Given the description of an element on the screen output the (x, y) to click on. 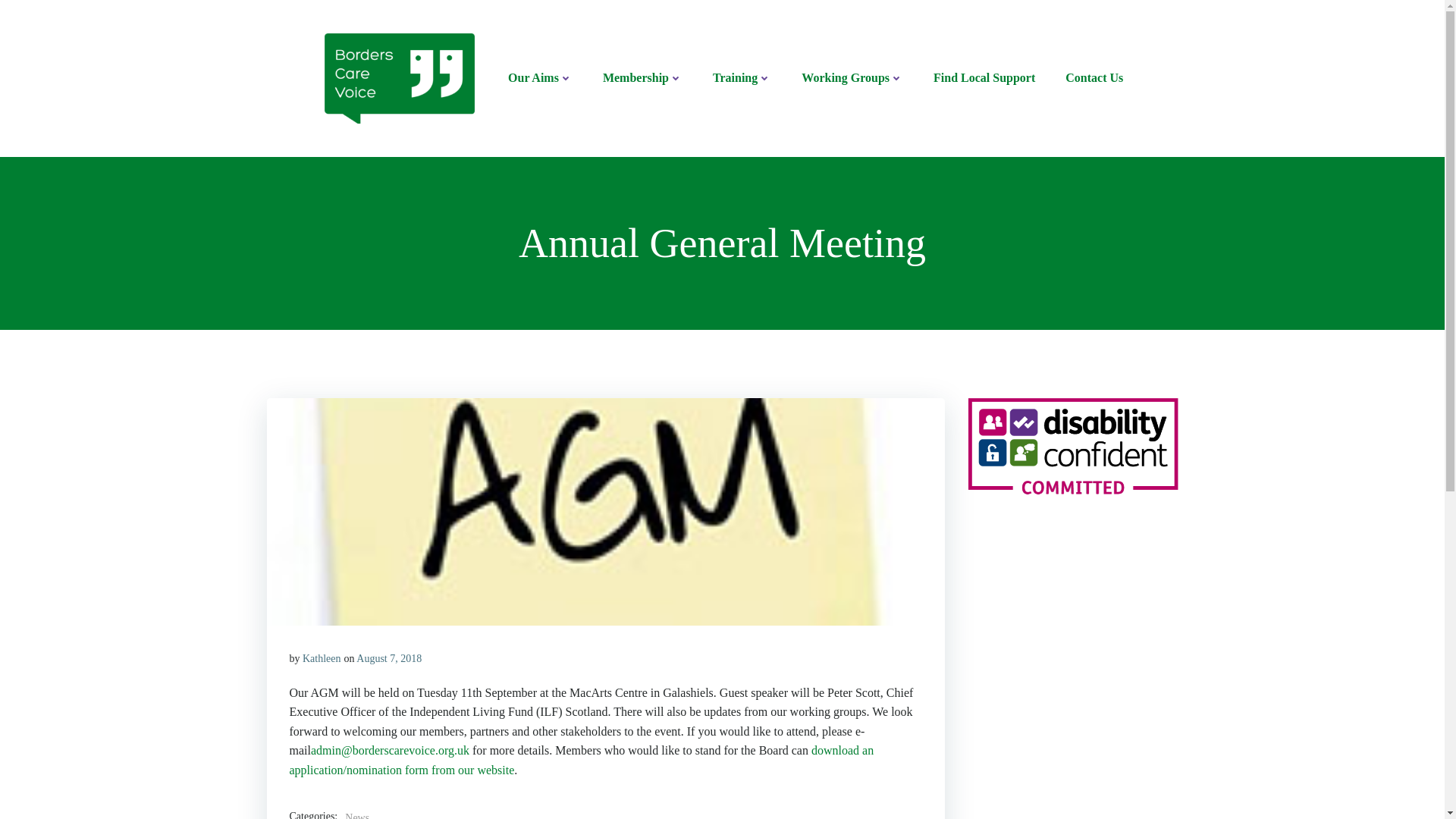
Find Local Support (984, 77)
Membership (642, 77)
Contact Us (1093, 77)
Our Aims (540, 77)
News (357, 814)
August 7, 2018 (389, 658)
Working Groups (852, 77)
Kathleen (321, 658)
Training (742, 77)
